Given the description of an element on the screen output the (x, y) to click on. 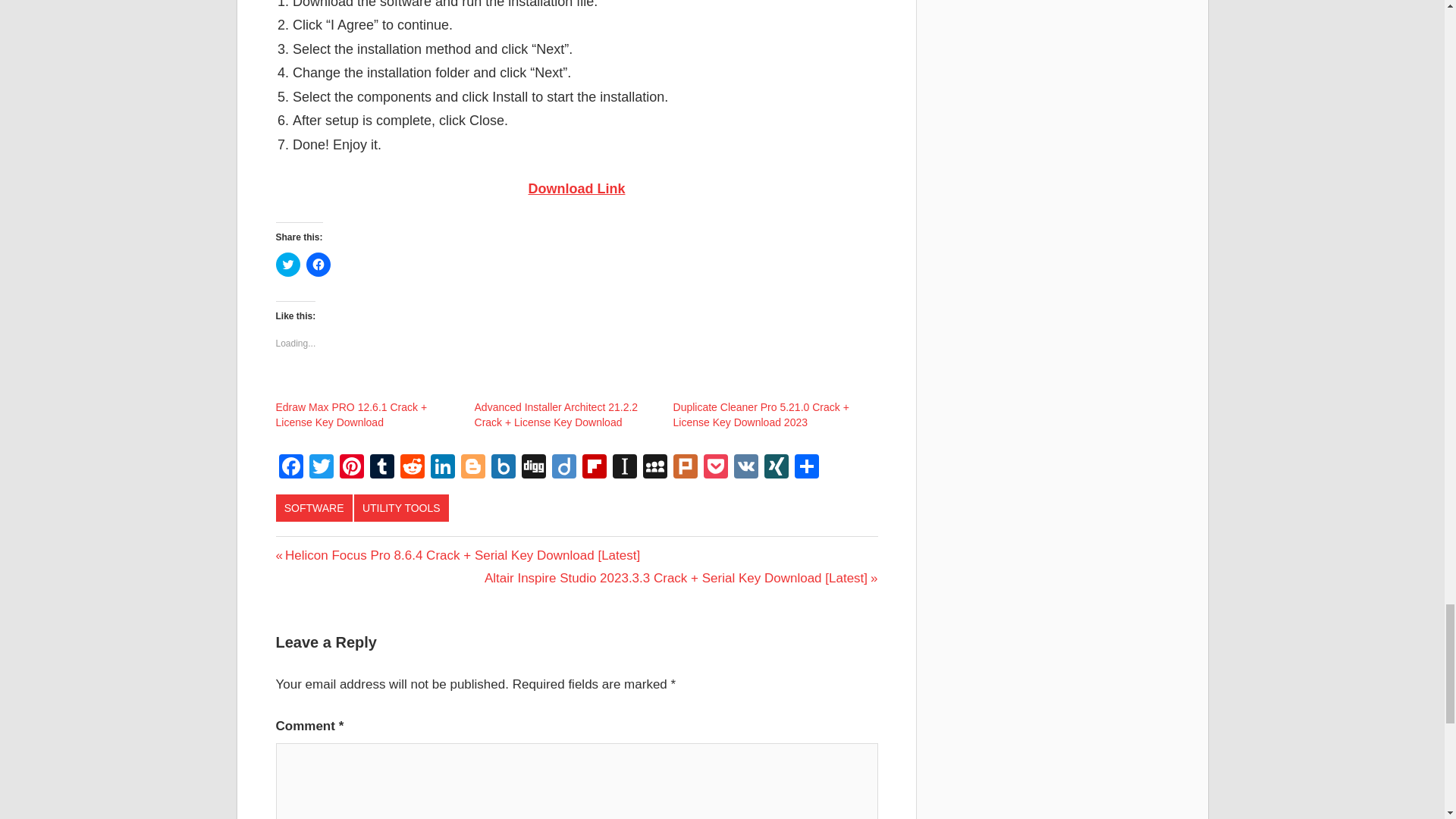
Pinterest (351, 468)
Tumblr (381, 468)
Twitter (320, 468)
LinkedIn (443, 468)
Facebook (290, 468)
Click to share on Facebook (317, 264)
Download Link (575, 188)
Digg (533, 468)
Box.net (502, 468)
Click to share on Twitter (287, 264)
Facebook (290, 468)
Blogger (472, 468)
Reddit (412, 468)
